Given the description of an element on the screen output the (x, y) to click on. 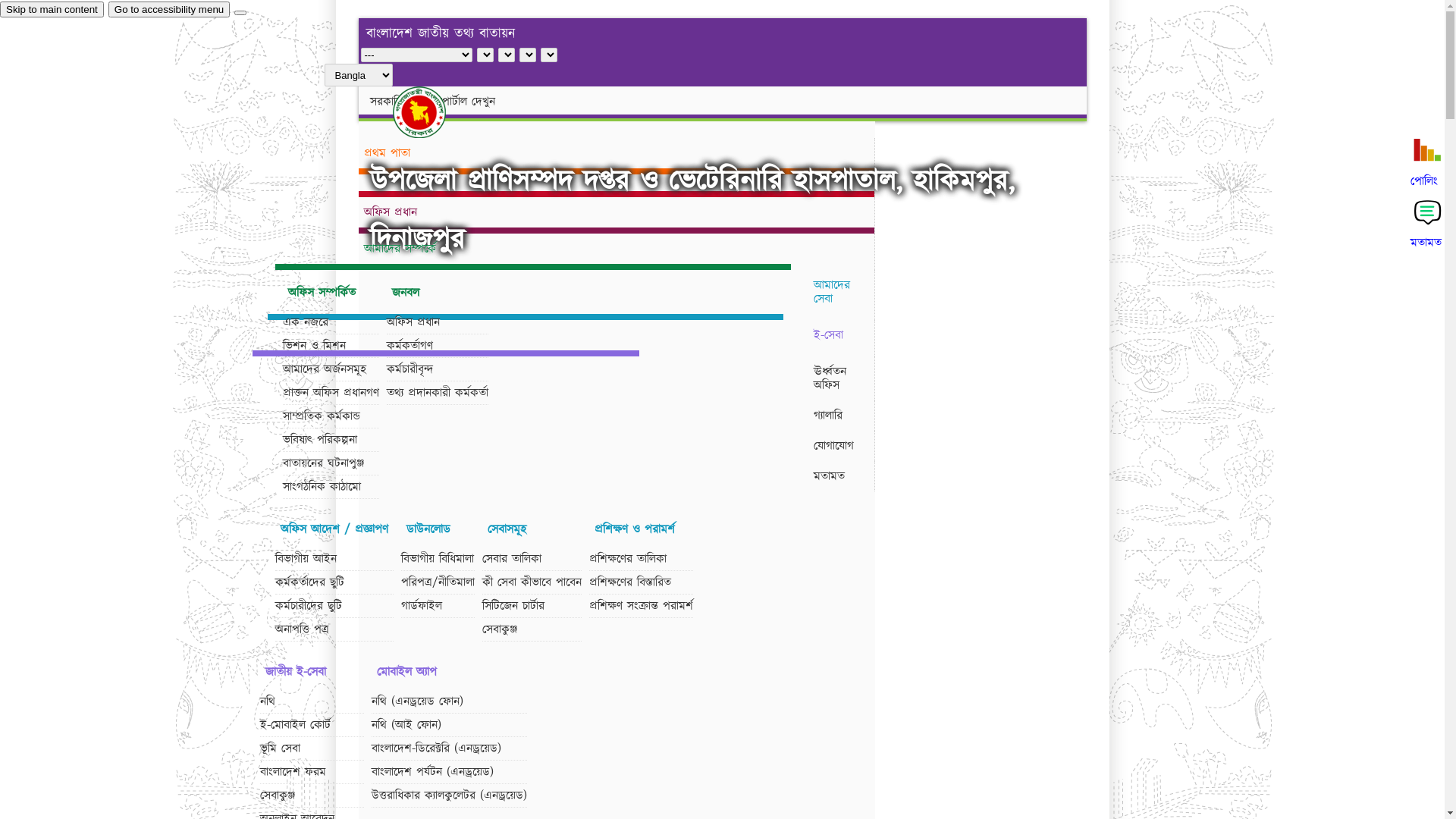

                
             Element type: hover (431, 112)
Go to accessibility menu Element type: text (168, 9)
Skip to main content Element type: text (51, 9)
close Element type: hover (240, 12)
